Given the description of an element on the screen output the (x, y) to click on. 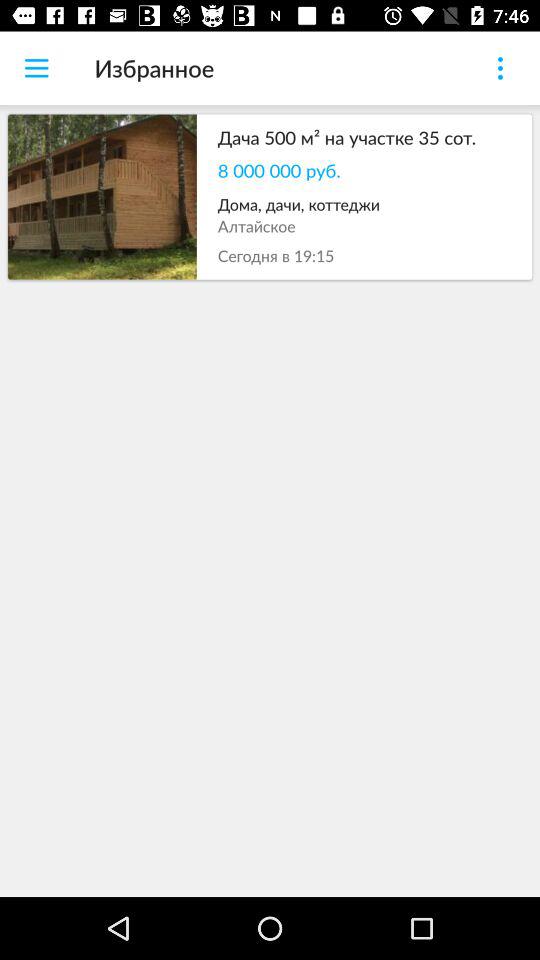
select the item above 8 000 000 (364, 137)
